Given the description of an element on the screen output the (x, y) to click on. 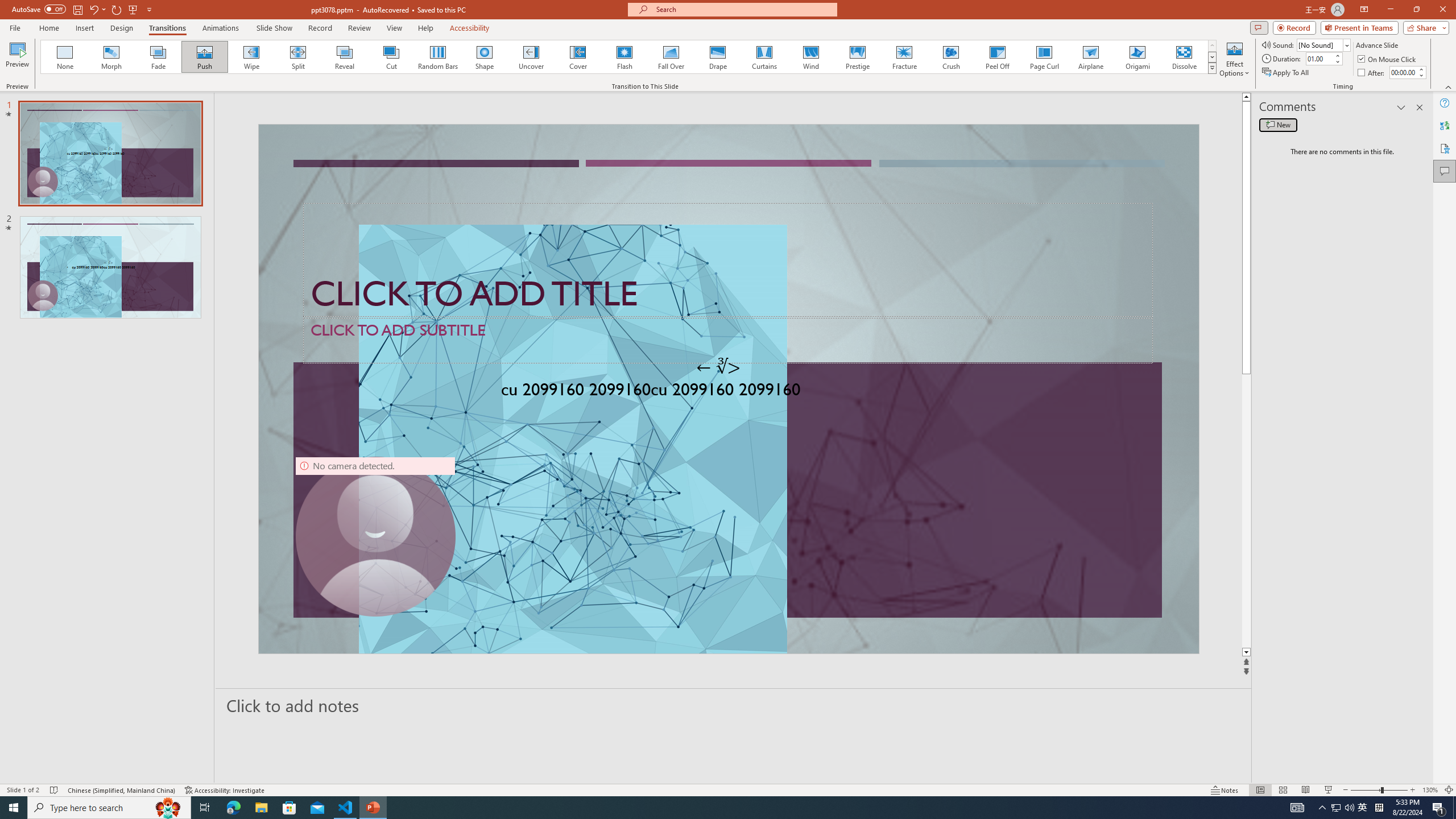
Morph (111, 56)
Crush (950, 56)
Cover (577, 56)
Curtains (764, 56)
Shape (484, 56)
Dissolve (1183, 56)
